Given the description of an element on the screen output the (x, y) to click on. 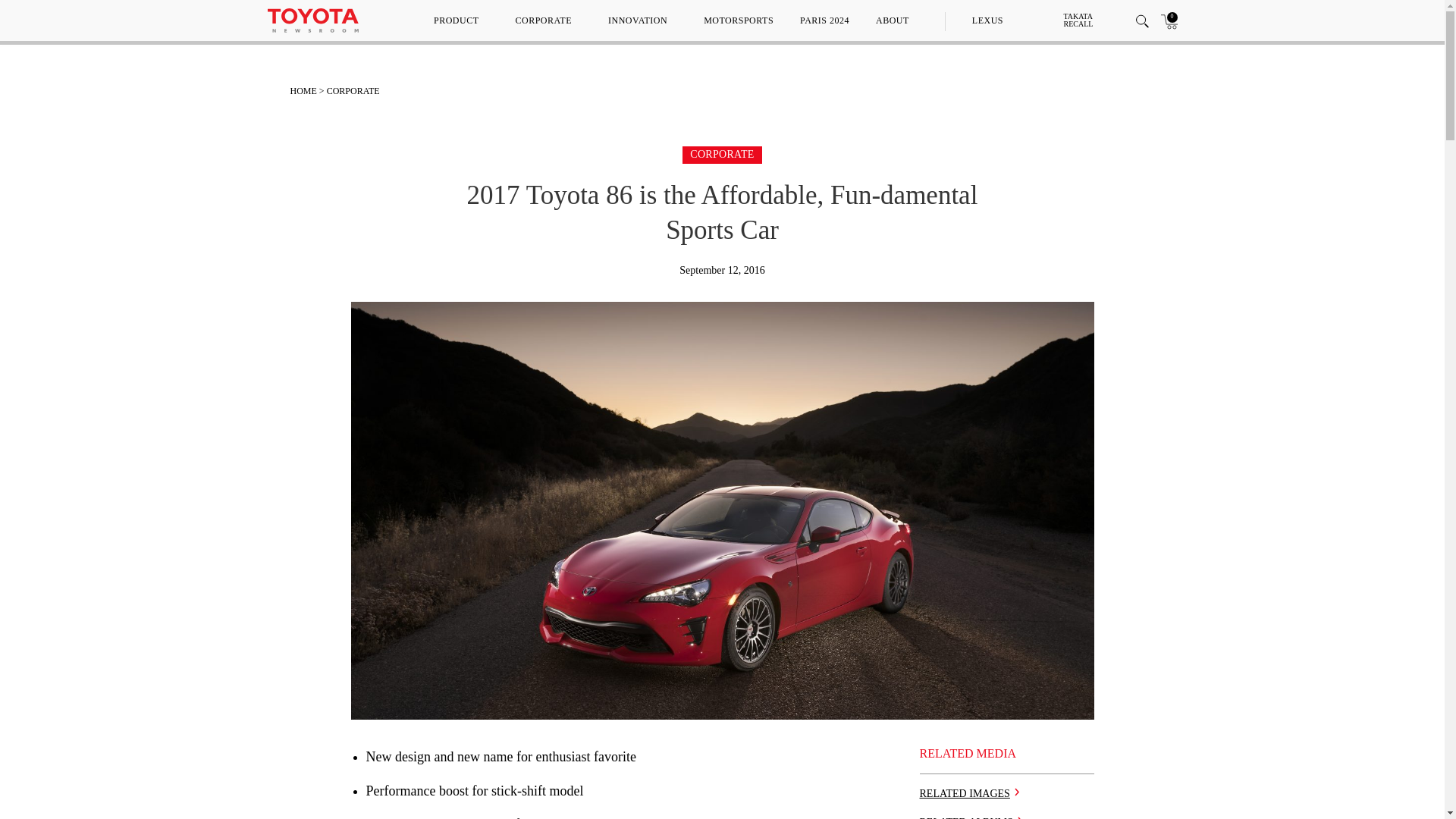
Corporate (722, 153)
PRODUCT (461, 20)
